Given the description of an element on the screen output the (x, y) to click on. 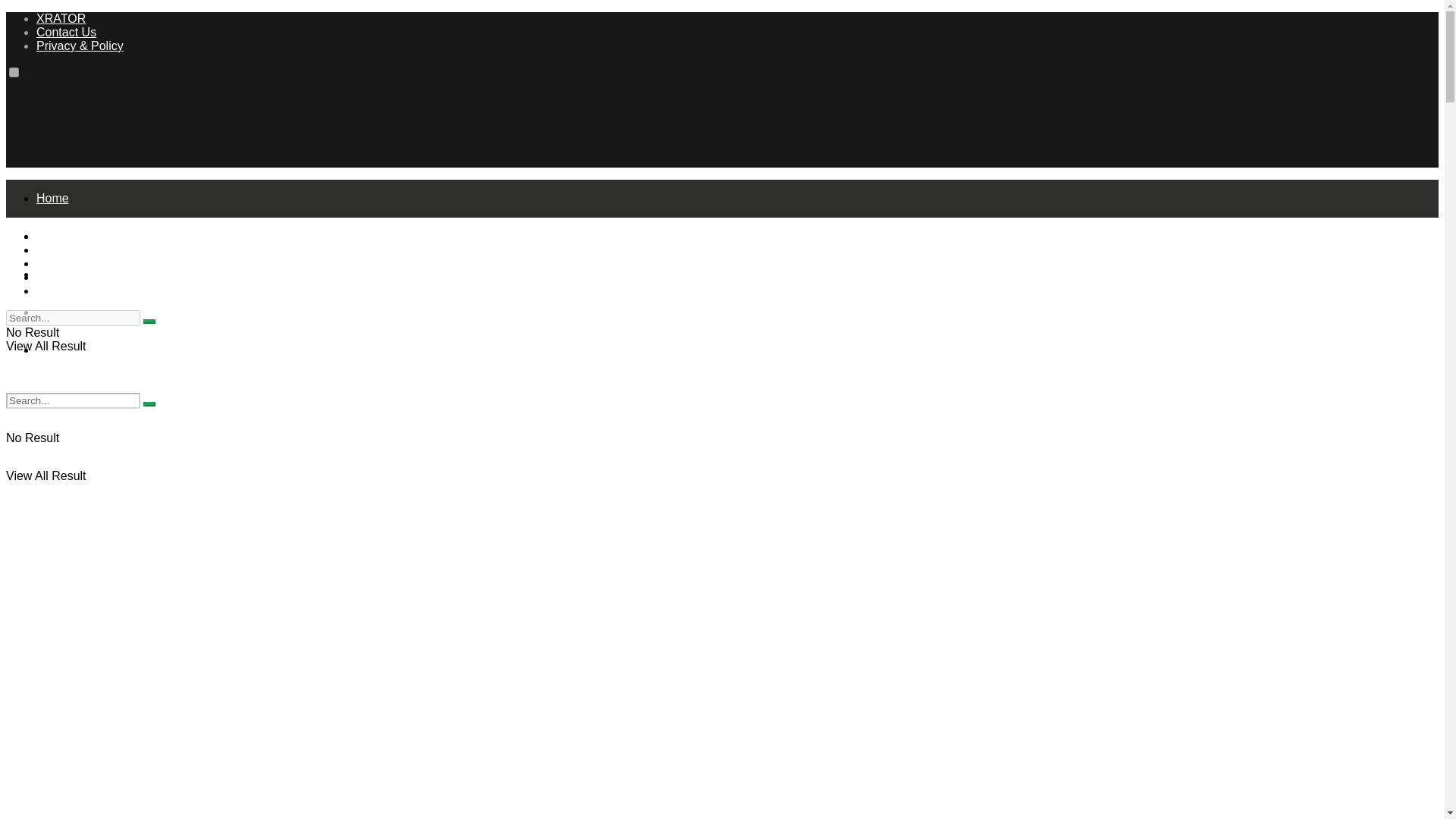
News (51, 263)
State of the art (76, 349)
Articles (55, 236)
Articles (55, 249)
XRATOR (60, 18)
News (51, 273)
Contact Us (66, 31)
Home (52, 236)
Research (61, 311)
on (13, 71)
